Given the description of an element on the screen output the (x, y) to click on. 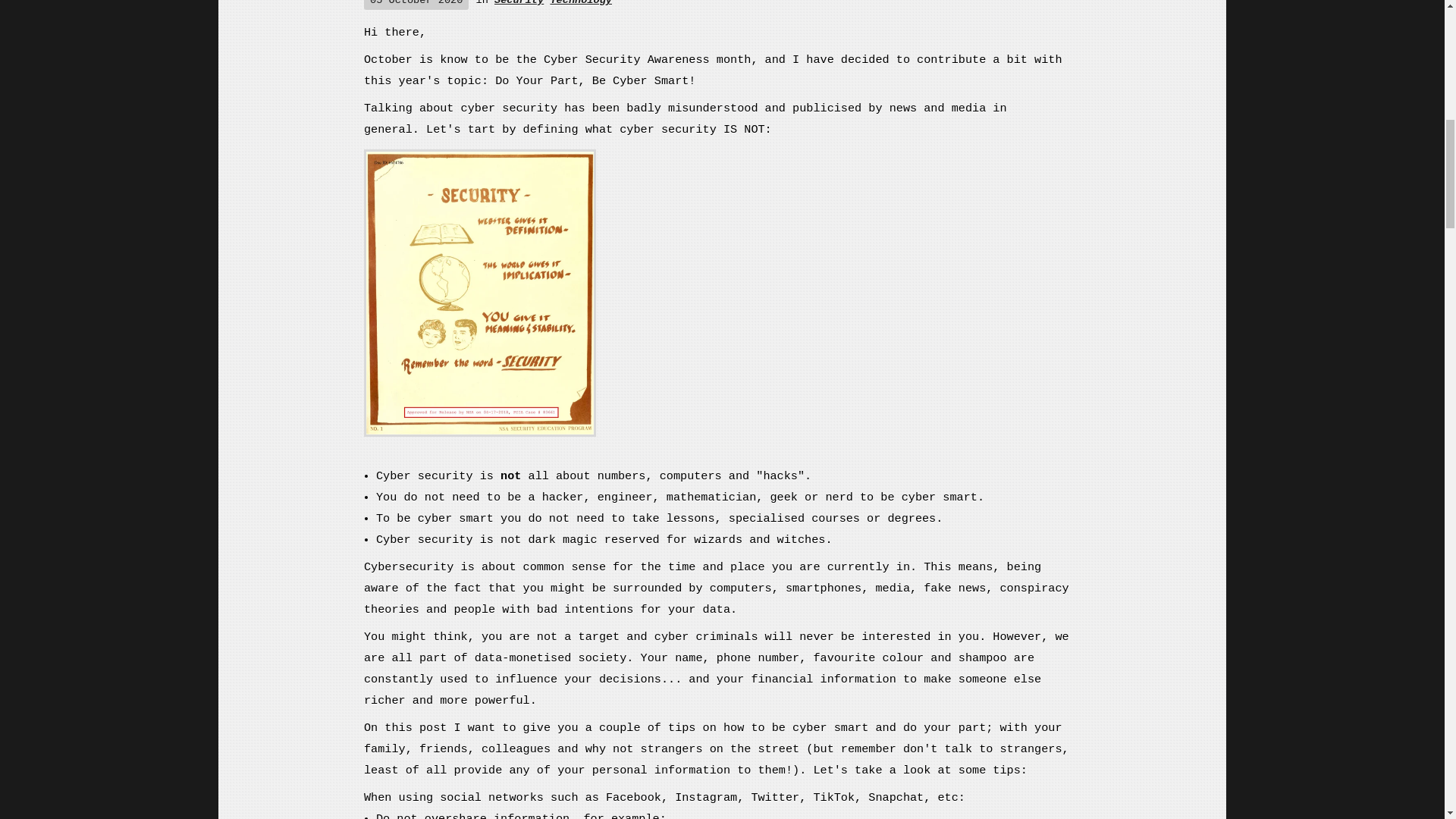
Security (519, 2)
Technology (580, 2)
